Given the description of an element on the screen output the (x, y) to click on. 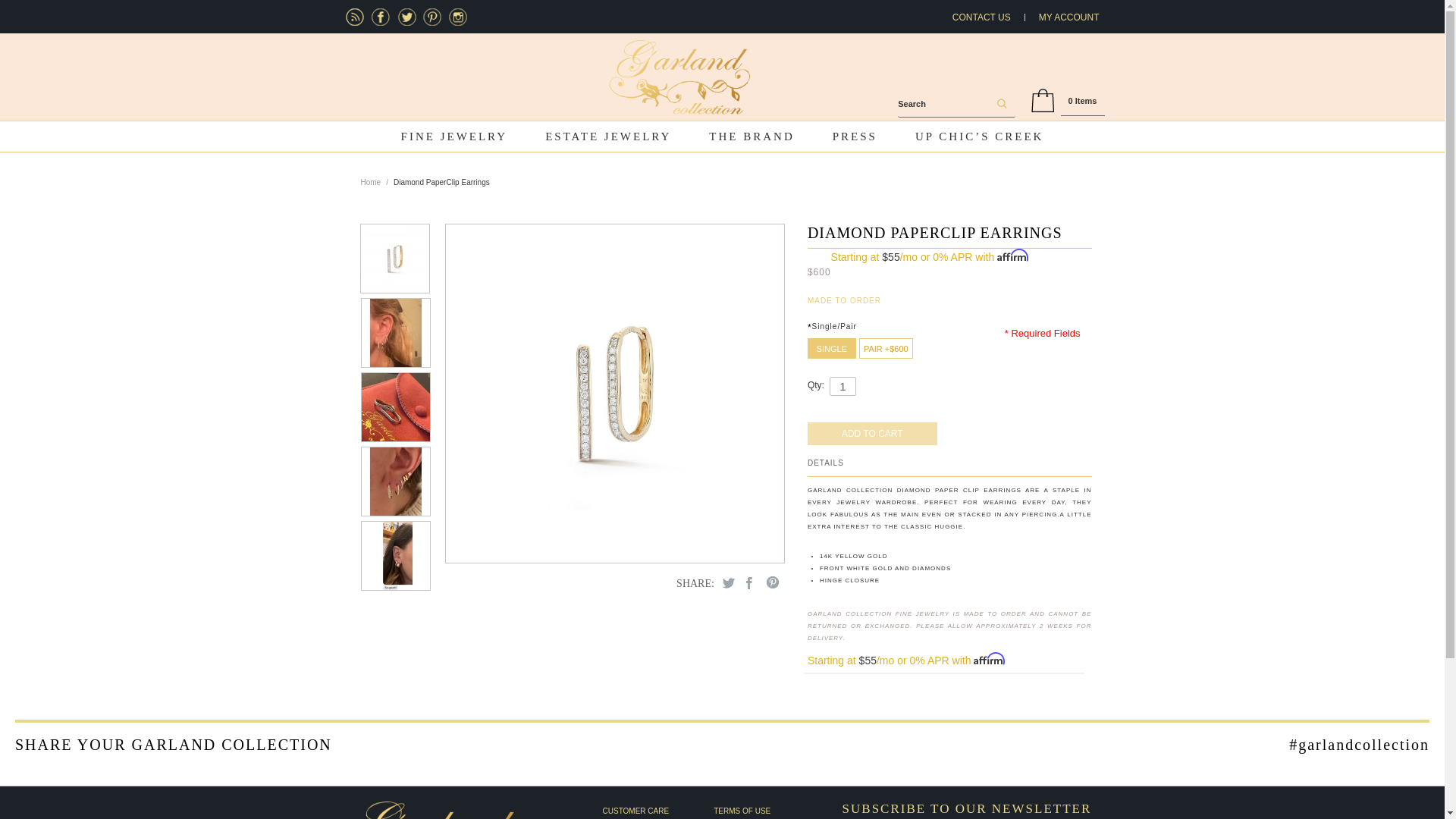
ESTATE JEWELRY (607, 136)
THE BRAND (751, 136)
Diamond PaperClip Earrings (394, 258)
Go to Home Page (371, 182)
1 (842, 385)
My Account (1069, 17)
0 Items (1082, 100)
Search (999, 105)
CONTACT US (982, 17)
FINE JEWELRY (454, 136)
Diamond PaperClip Earrings (614, 393)
Diamond PaperClip Earrings (395, 332)
PRESS (854, 136)
MY ACCOUNT (1069, 17)
